Given the description of an element on the screen output the (x, y) to click on. 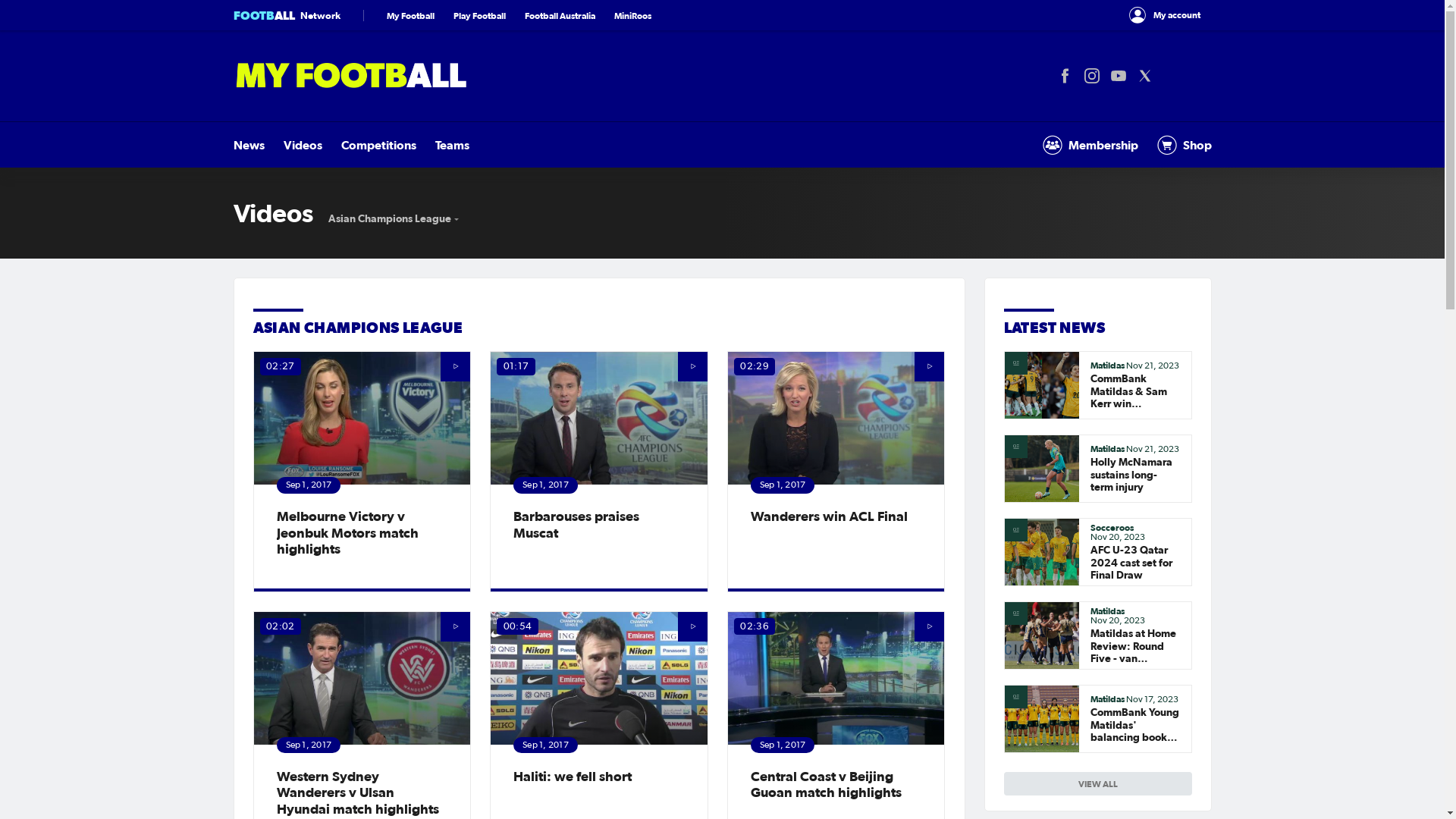
02:29
Sep 1, 2017
Wanderers win ACL Final Element type: text (836, 471)
My account Element type: text (1164, 15)
My Football Element type: text (410, 15)
Shop Element type: text (1184, 144)
Competitions Element type: text (378, 144)
Play Football Element type: text (479, 15)
VIEW ALL Element type: text (1098, 783)
Teams Element type: text (452, 144)
Videos Element type: text (302, 144)
01:17
Sep 1, 2017
Barbarouses praises Muscat Element type: text (598, 471)
MiniRoos Element type: text (632, 15)
Football Australia Element type: text (559, 15)
News Element type: text (248, 144)
Membership Element type: text (1089, 144)
